Given the description of an element on the screen output the (x, y) to click on. 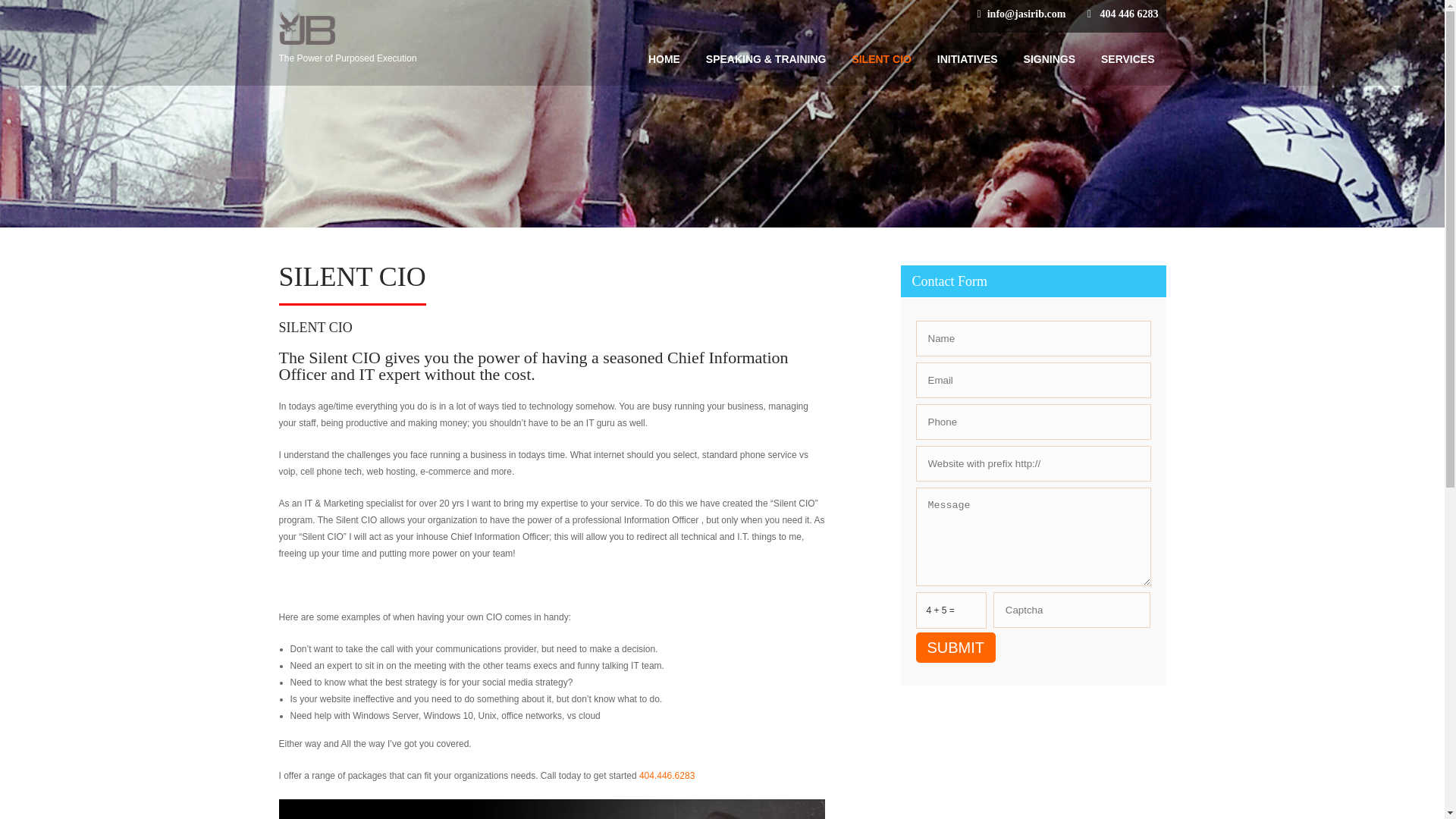
Submit (955, 647)
SIGNINGS (1048, 58)
INITIATIVES (967, 58)
404 446 6283 (1128, 13)
Submit (955, 647)
Submit (955, 647)
SILENT CIO (881, 58)
SERVICES (1127, 58)
HOME (664, 58)
The Power of Purposed Execution (389, 51)
404.446.6283 (666, 775)
